Given the description of an element on the screen output the (x, y) to click on. 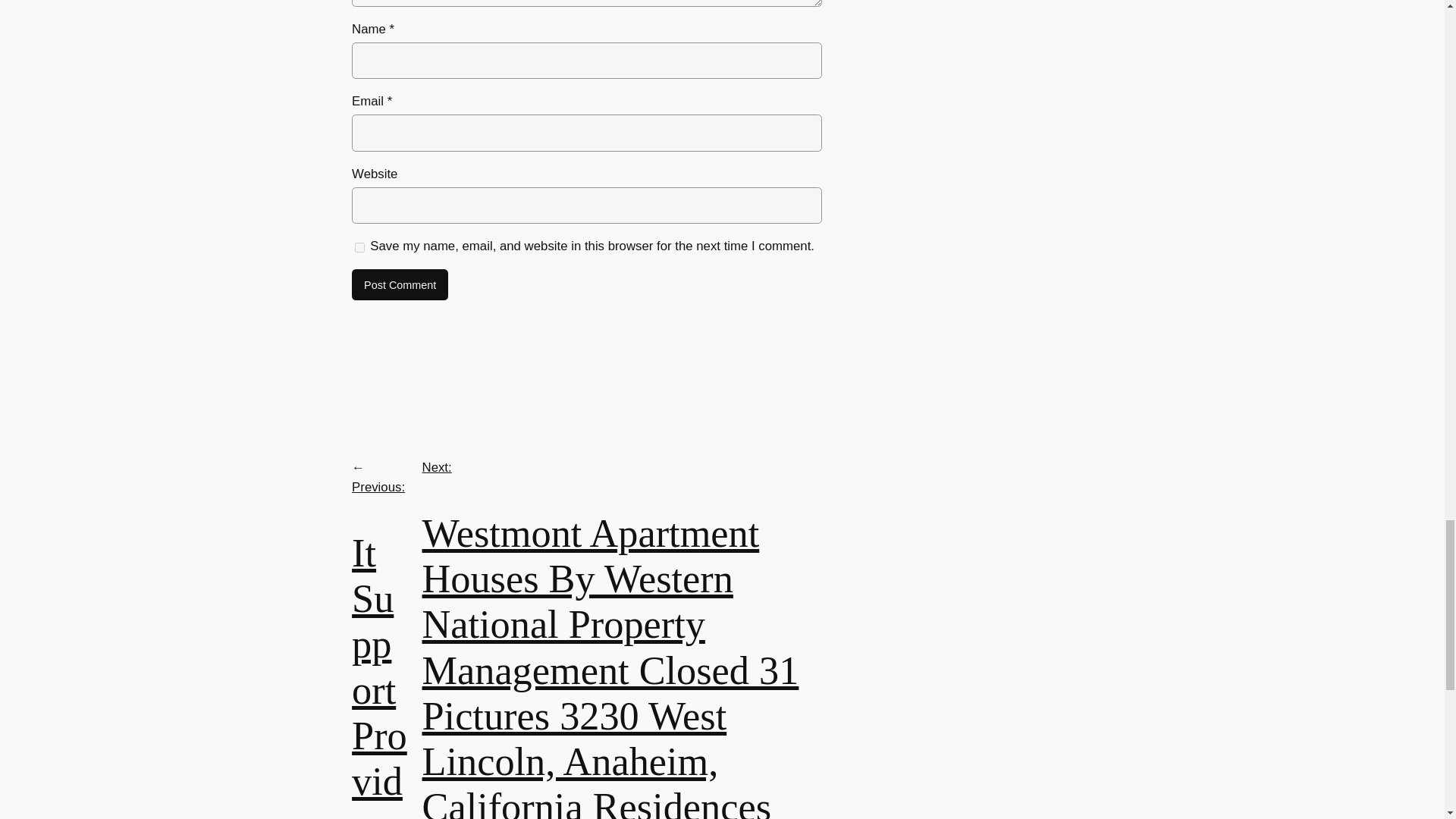
Post Comment (400, 285)
Post Comment (400, 285)
